Given the description of an element on the screen output the (x, y) to click on. 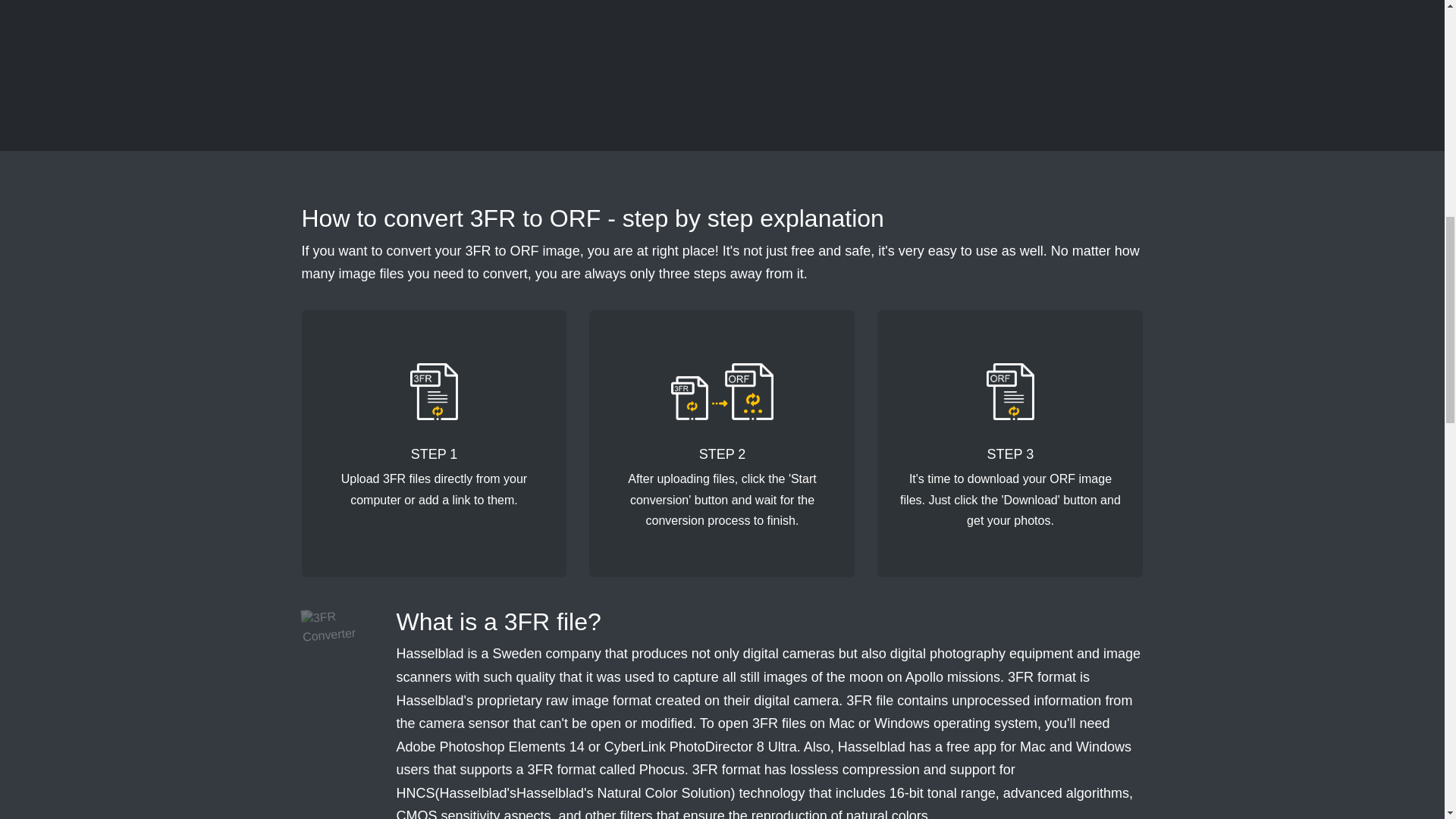
Converting 3FR to ORF (722, 391)
